Given the description of an element on the screen output the (x, y) to click on. 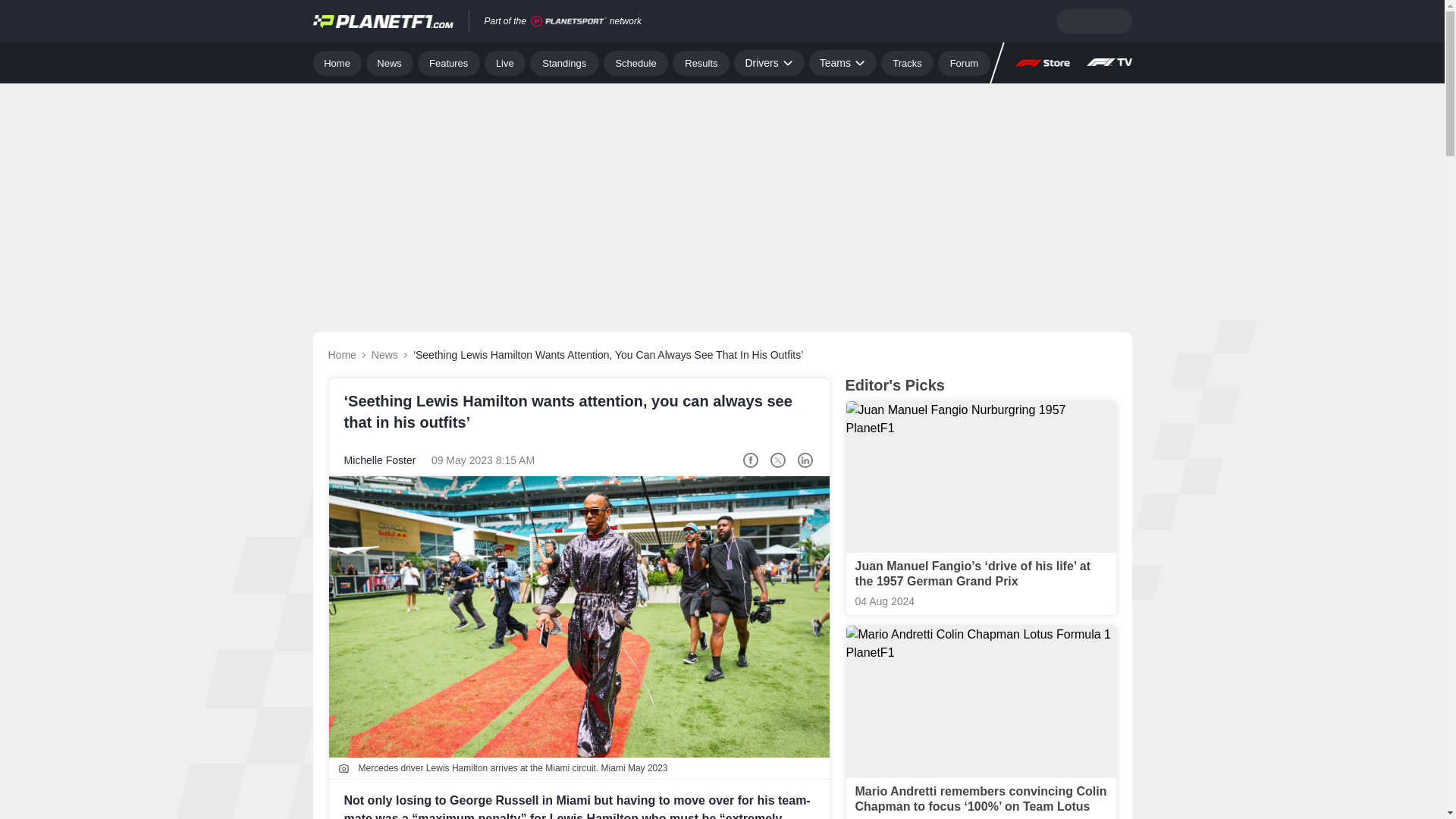
Home (337, 62)
Teams (842, 62)
News (389, 62)
Live (504, 62)
Schedule (636, 62)
Drivers (768, 62)
Features (448, 62)
Results (700, 62)
Standings (563, 62)
